Given the description of an element on the screen output the (x, y) to click on. 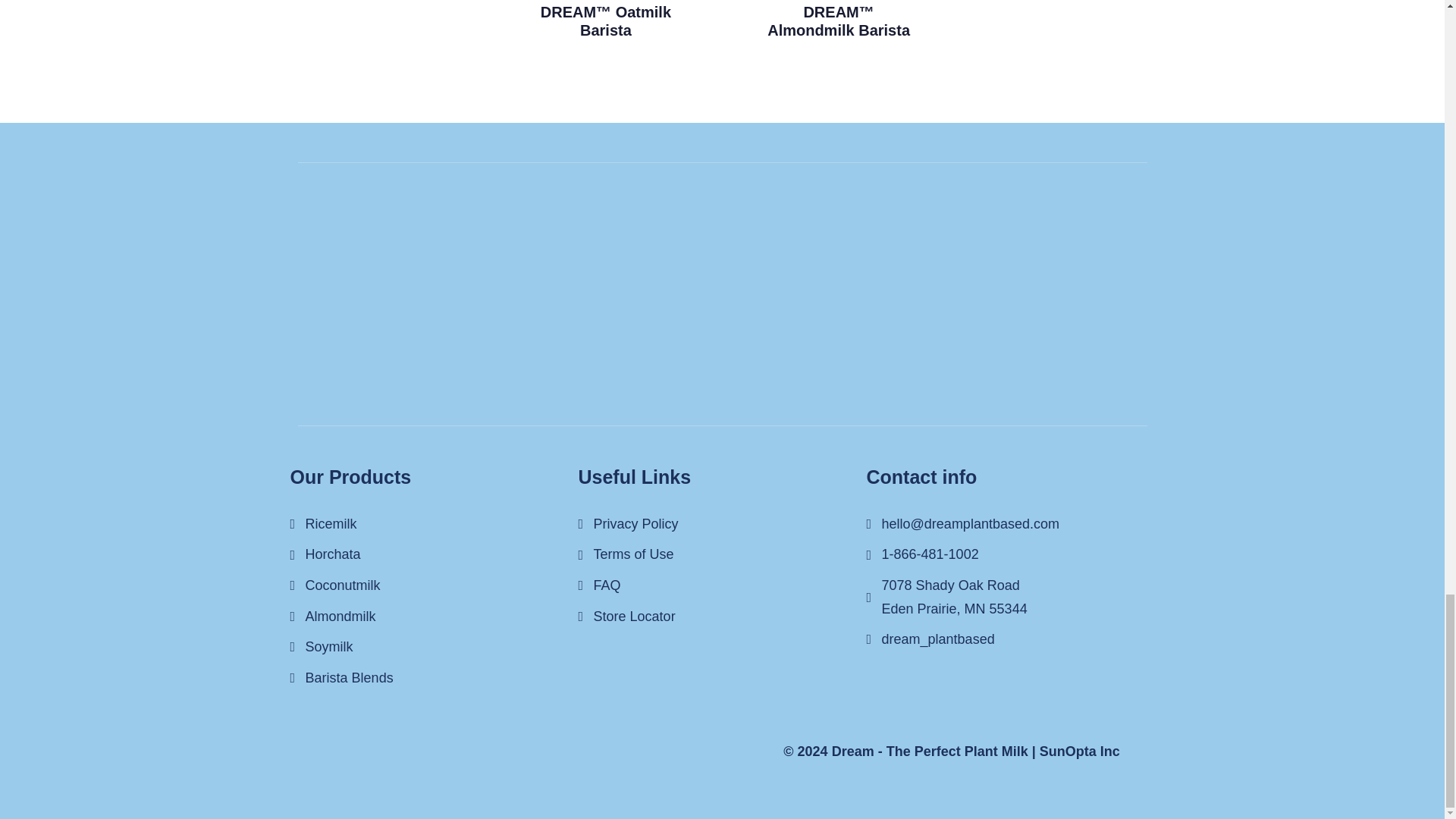
SunOpta Inc (1079, 751)
Barista Blends (433, 678)
1-866-481-1002 (1010, 596)
Almondmilk (1010, 554)
Store Locator (433, 616)
Terms of Use (722, 616)
Privacy Policy (722, 554)
Soymilk (722, 524)
Horchata (433, 647)
FAQ (433, 554)
Ricemilk (722, 585)
Coconutmilk (433, 524)
